Given the description of an element on the screen output the (x, y) to click on. 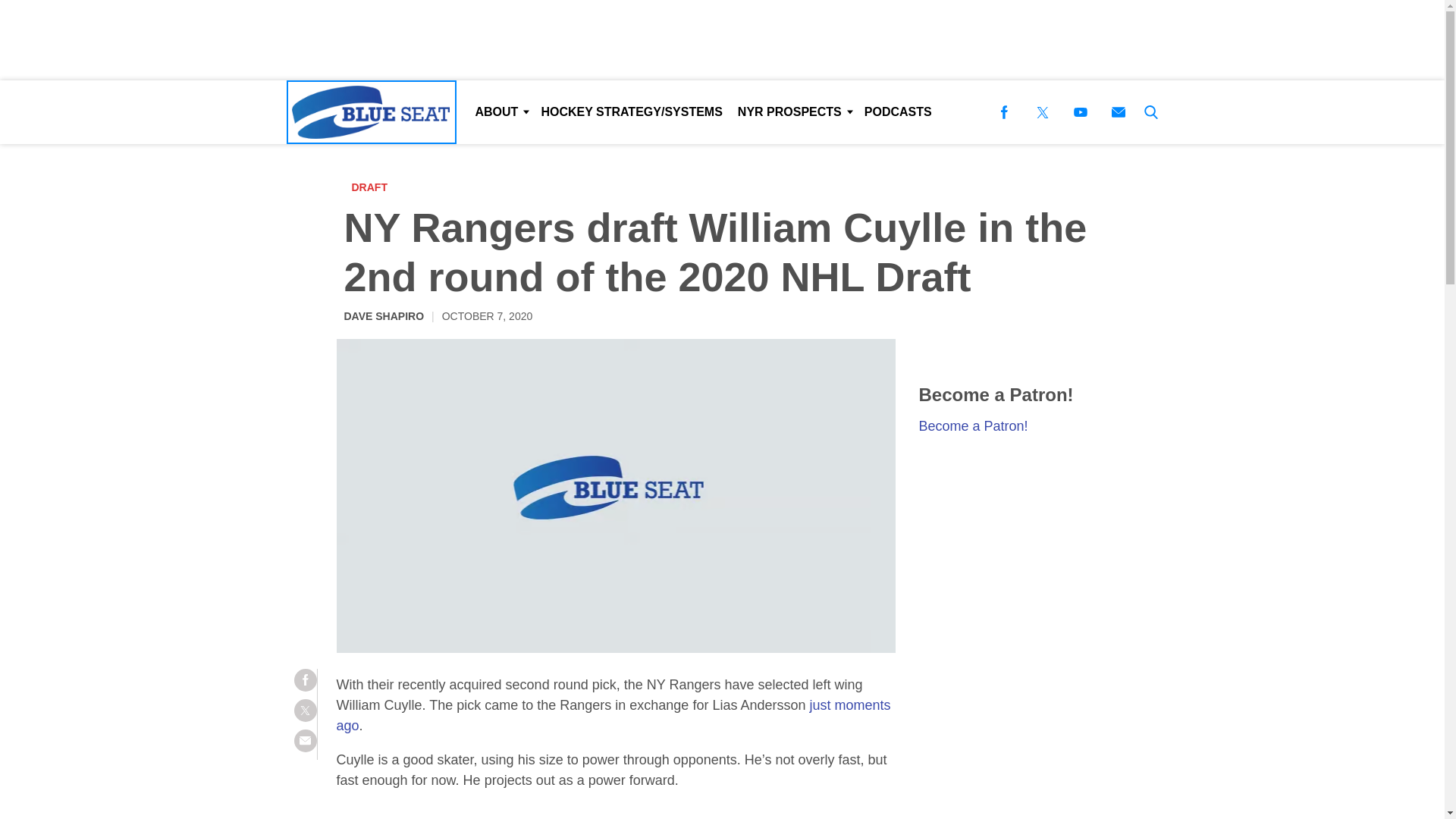
DAVE SHAPIRO (384, 315)
DRAFT (373, 187)
Share on Facebook (305, 680)
NYR PROSPECTS (793, 112)
Share on Twitter (305, 710)
PODCASTS (898, 112)
ABOUT (499, 112)
Posts by Dave Shapiro (384, 315)
just moments ago (613, 715)
Share via Email (305, 740)
